Given the description of an element on the screen output the (x, y) to click on. 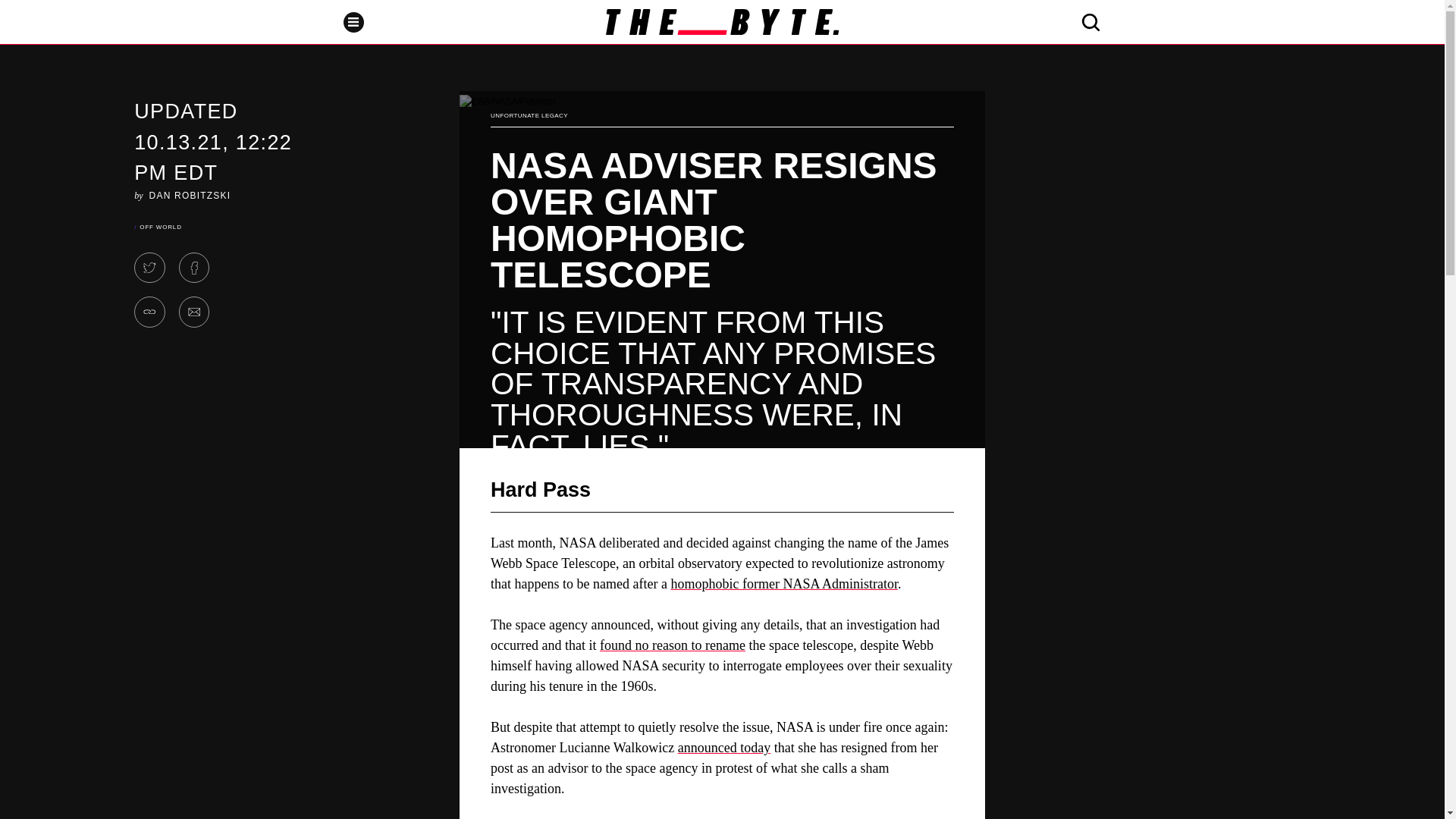
DAN ROBITZSKI (190, 194)
homophobic former NASA Administrator (782, 583)
Tweet This (149, 267)
OFF WORLD (159, 226)
announced today (724, 747)
Share via Email (194, 311)
Copy Link (149, 311)
Share to Facebook (194, 267)
Dan Robitzski (190, 194)
found no reason to rename (672, 645)
